Given the description of an element on the screen output the (x, y) to click on. 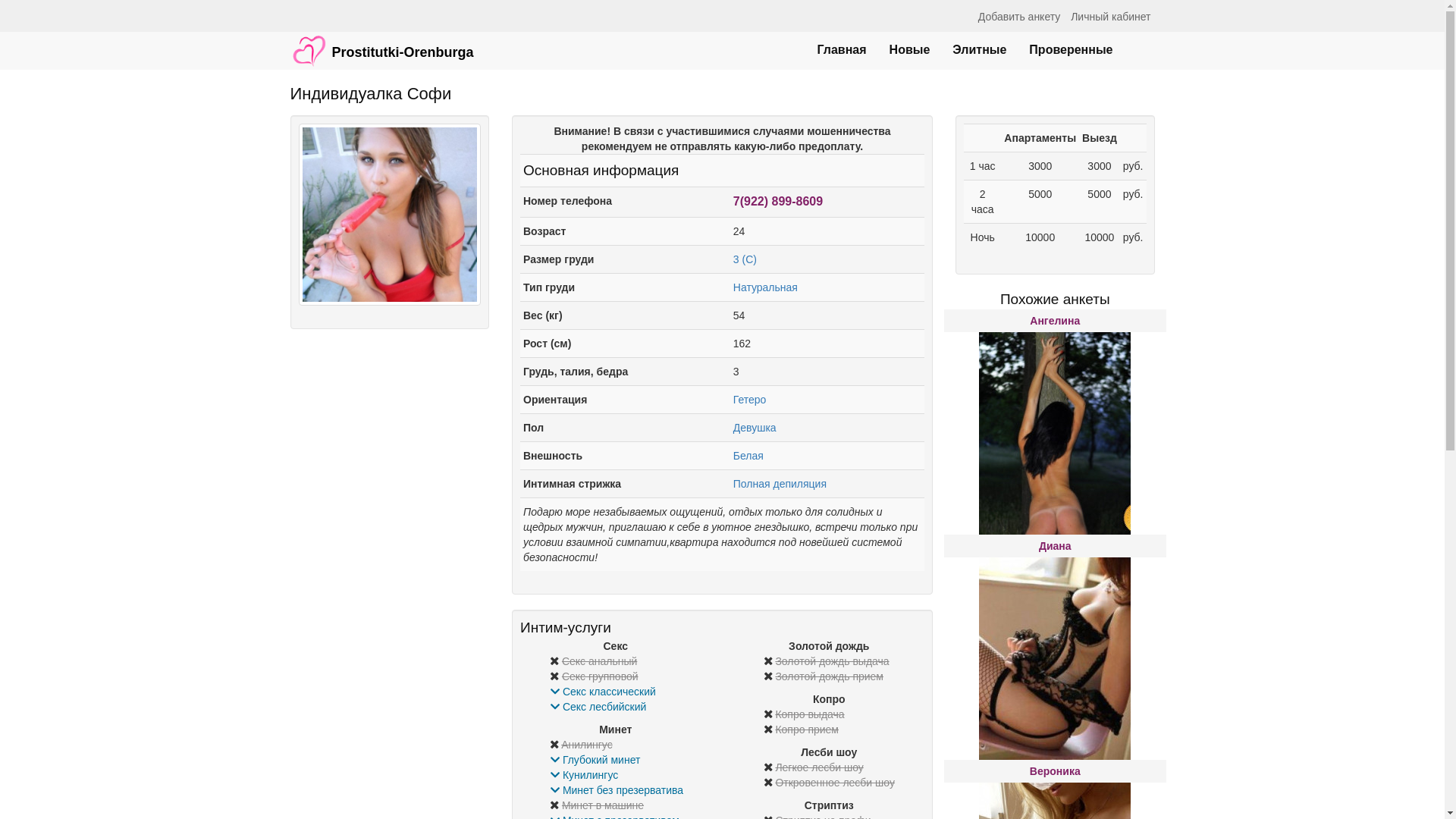
3 (C) Element type: text (744, 259)
Prostitutki-Orenburga Element type: text (382, 43)
